Given the description of an element on the screen output the (x, y) to click on. 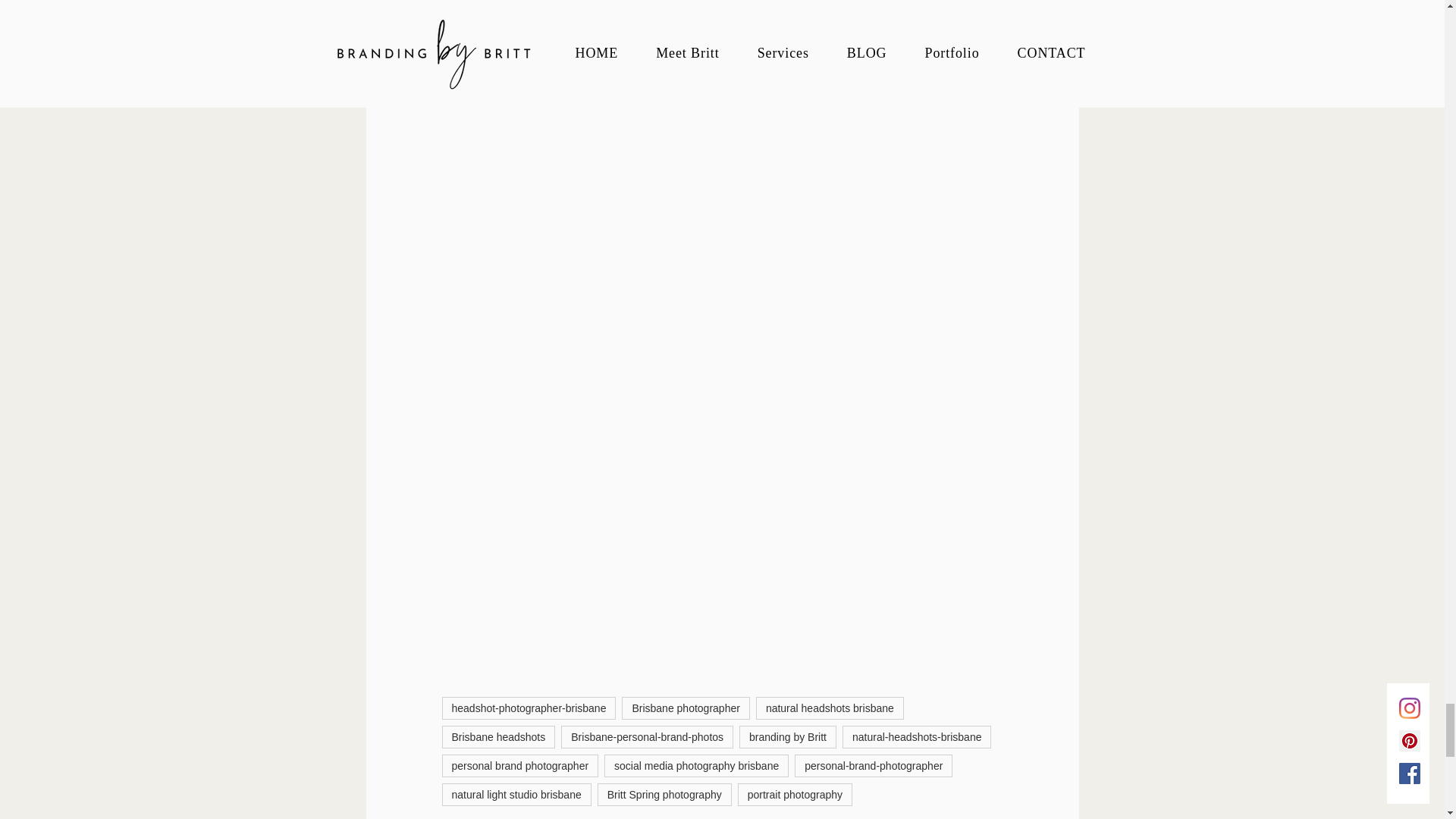
natural-headshots-brisbane (917, 736)
personal-brand-photographer (873, 765)
social media photography brisbane (696, 765)
Brisbane photographer (685, 707)
Brisbane-personal-brand-photos (646, 736)
natural headshots brisbane (829, 707)
natural light studio brisbane (516, 793)
personal brand photographer (519, 765)
portrait photography (794, 793)
headshot-photographer-brisbane (528, 707)
branding by Britt (787, 736)
Britt Spring photography (664, 793)
Brisbane headshots (497, 736)
